Given the description of an element on the screen output the (x, y) to click on. 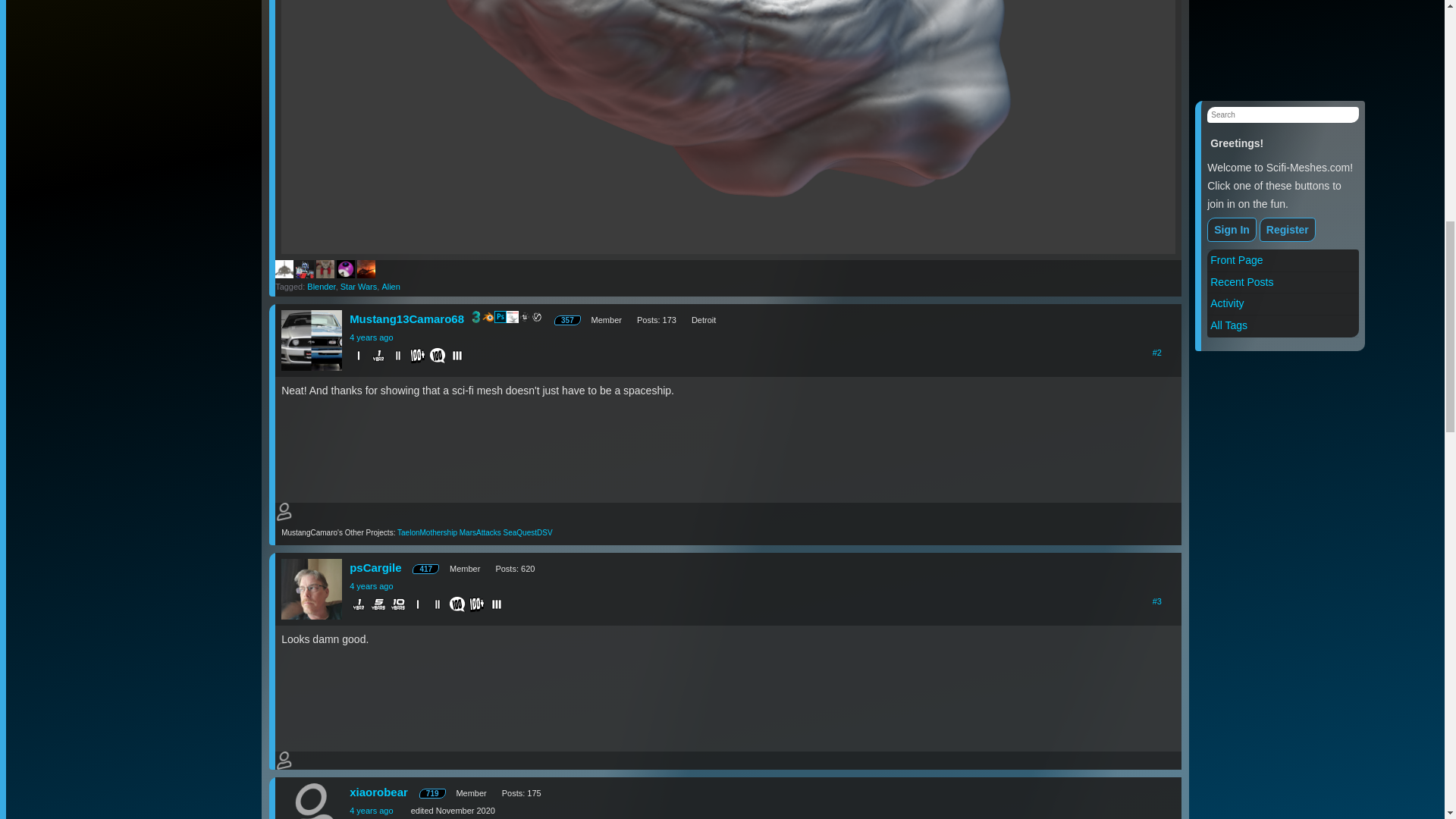
Star Wars (358, 286)
Blender (320, 286)
